Given the description of an element on the screen output the (x, y) to click on. 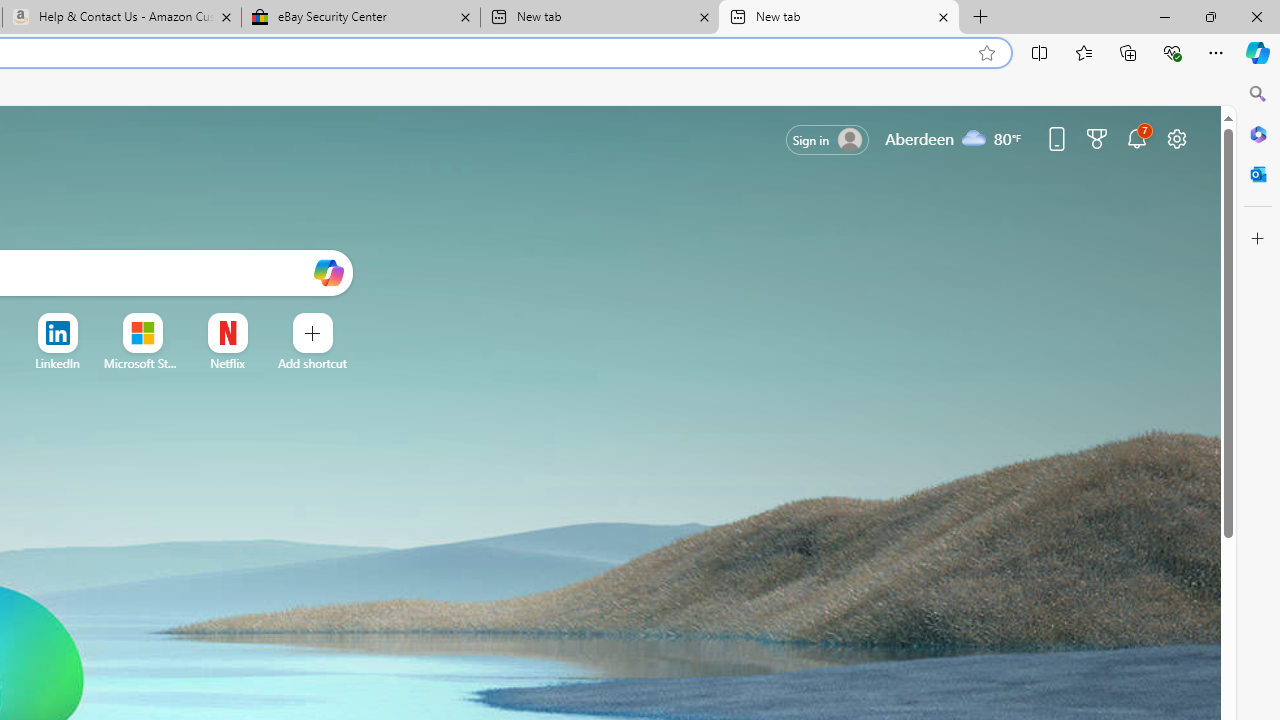
Click to sign into Microsoft Edge (827, 139)
Netflix (226, 363)
LinkedIn (56, 363)
